Given the description of an element on the screen output the (x, y) to click on. 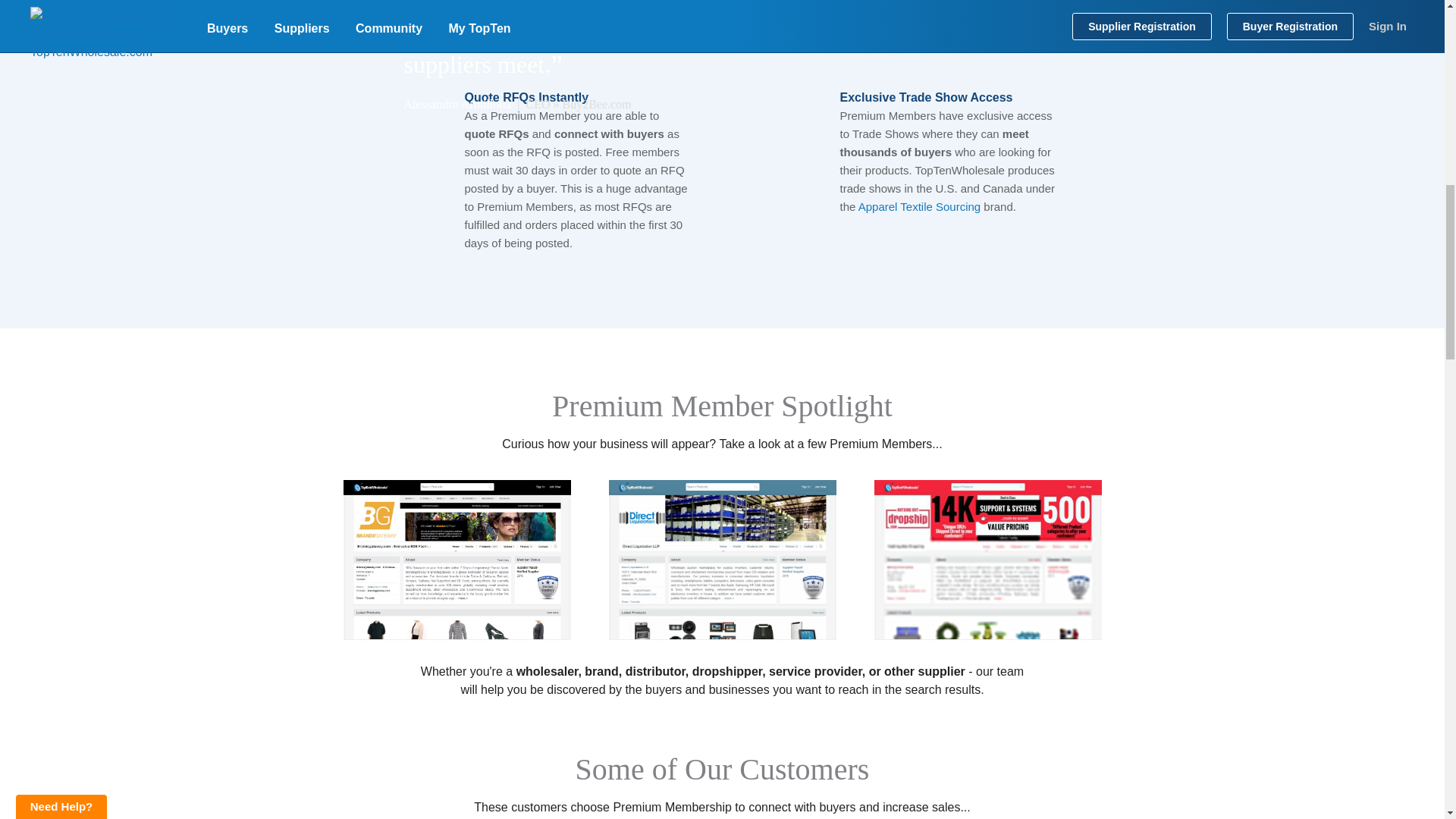
Apparel Textile Sourcing (919, 205)
